Given the description of an element on the screen output the (x, y) to click on. 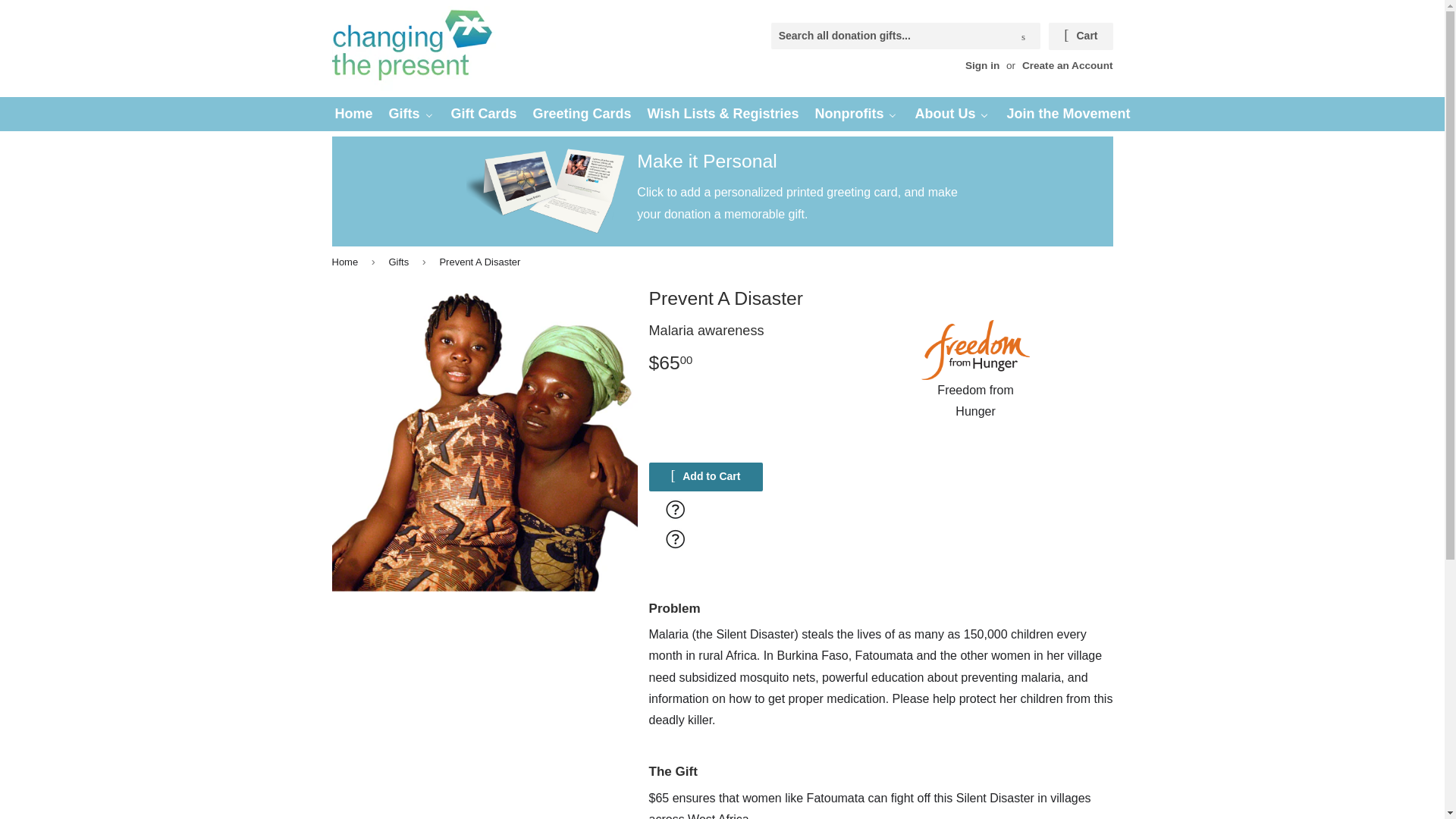
Cart (1080, 35)
Home (353, 114)
Gifts (411, 114)
Create an Account (1067, 65)
Search (1023, 36)
Back to the frontpage (347, 262)
Sign in (981, 65)
